Given the description of an element on the screen output the (x, y) to click on. 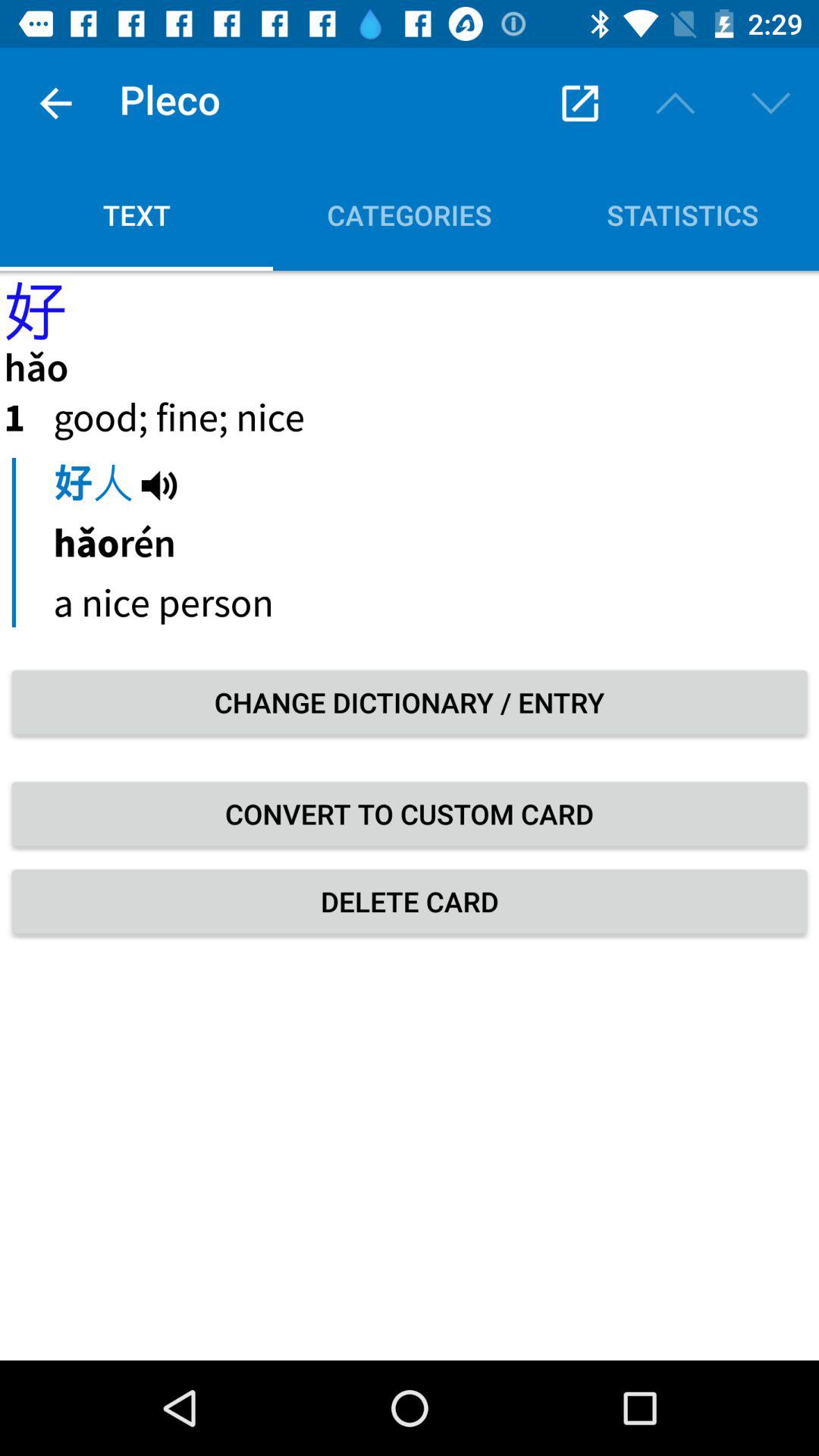
choose icon to the right of text icon (409, 214)
